Given the description of an element on the screen output the (x, y) to click on. 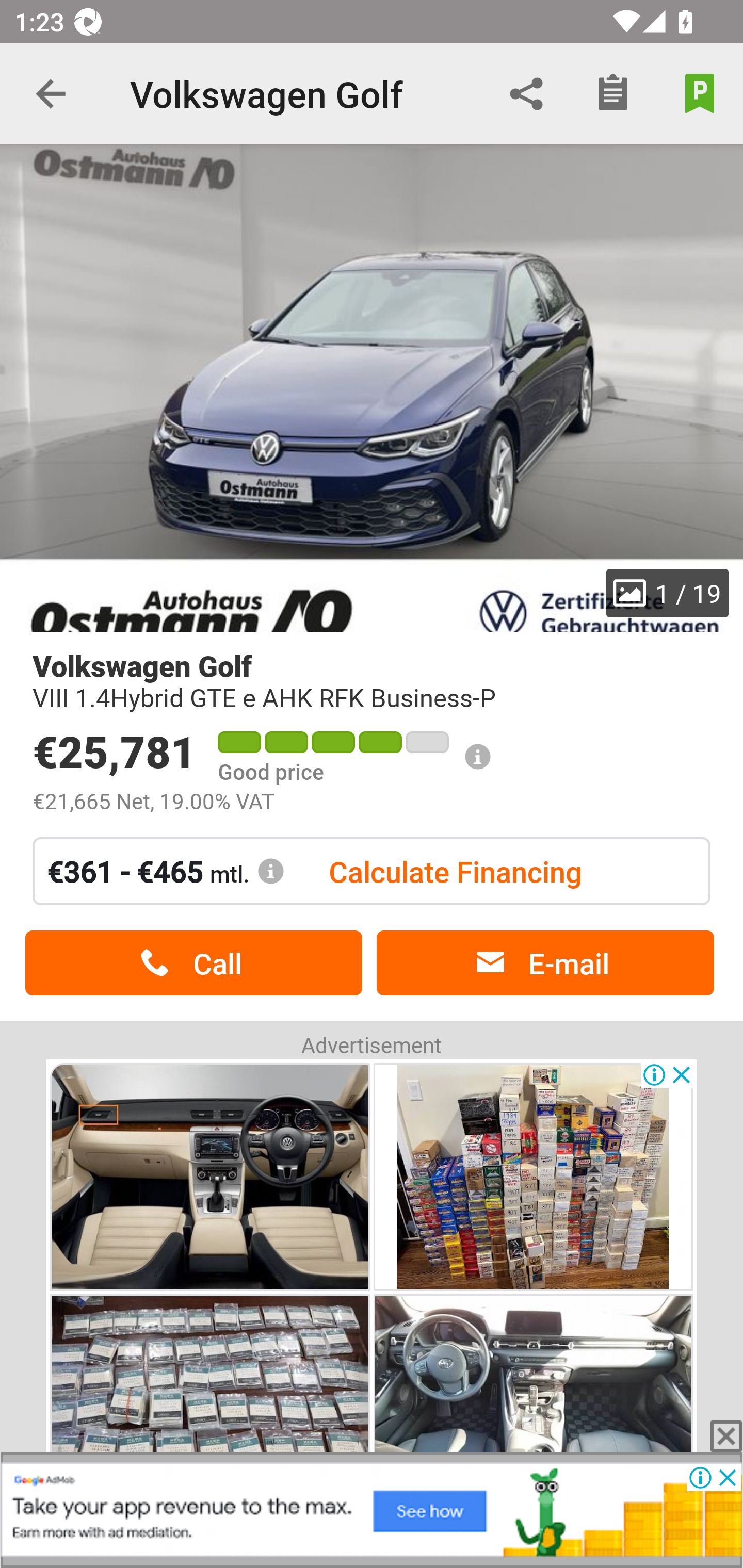
Navigate up (50, 93)
Share via (525, 93)
Checklist (612, 93)
Park (699, 93)
Calculate Financing (454, 870)
€361 - €465 mtl. (165, 870)
Call (193, 963)
E-mail (545, 963)
